Given the description of an element on the screen output the (x, y) to click on. 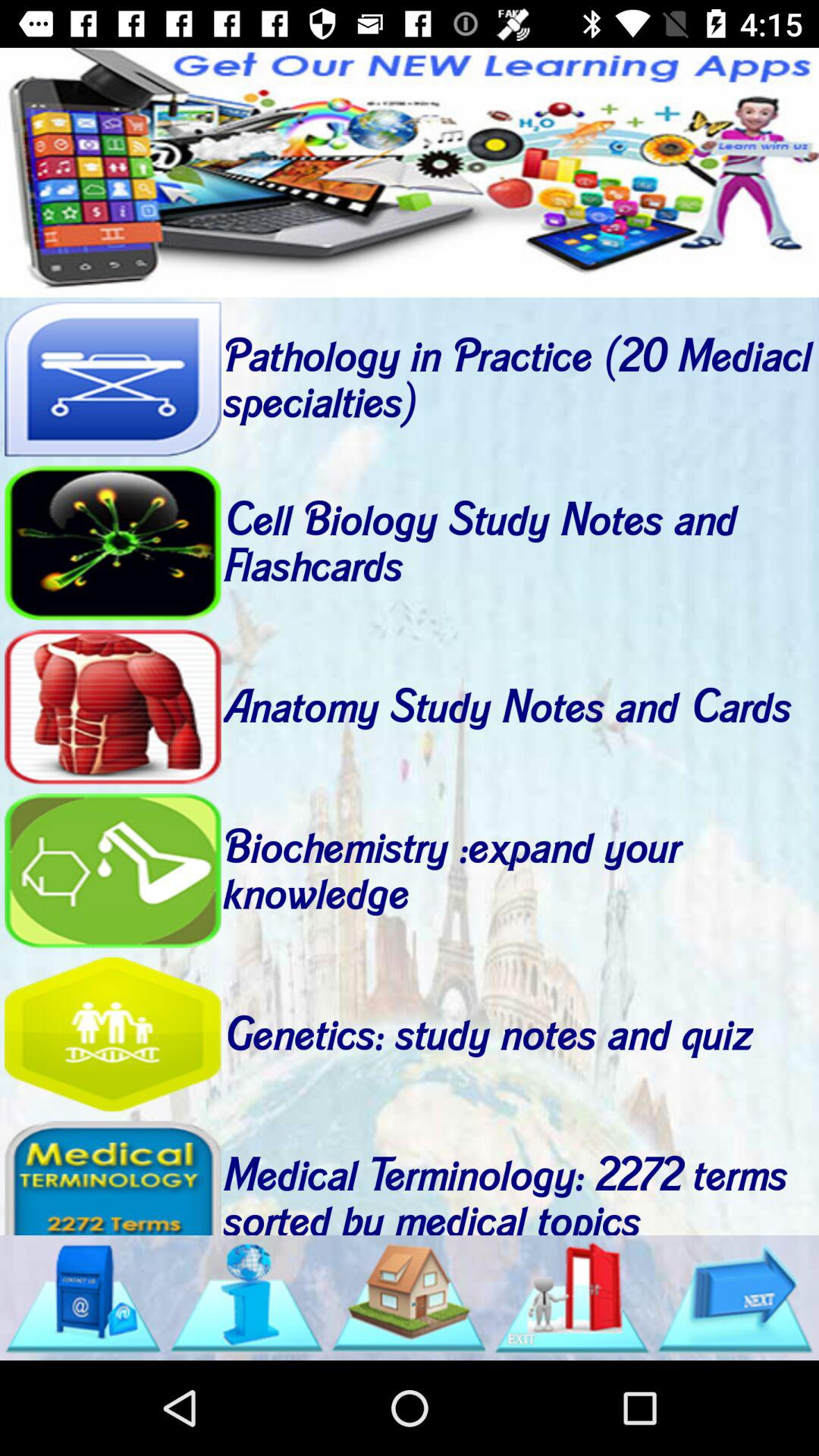
home (408, 1297)
